Given the description of an element on the screen output the (x, y) to click on. 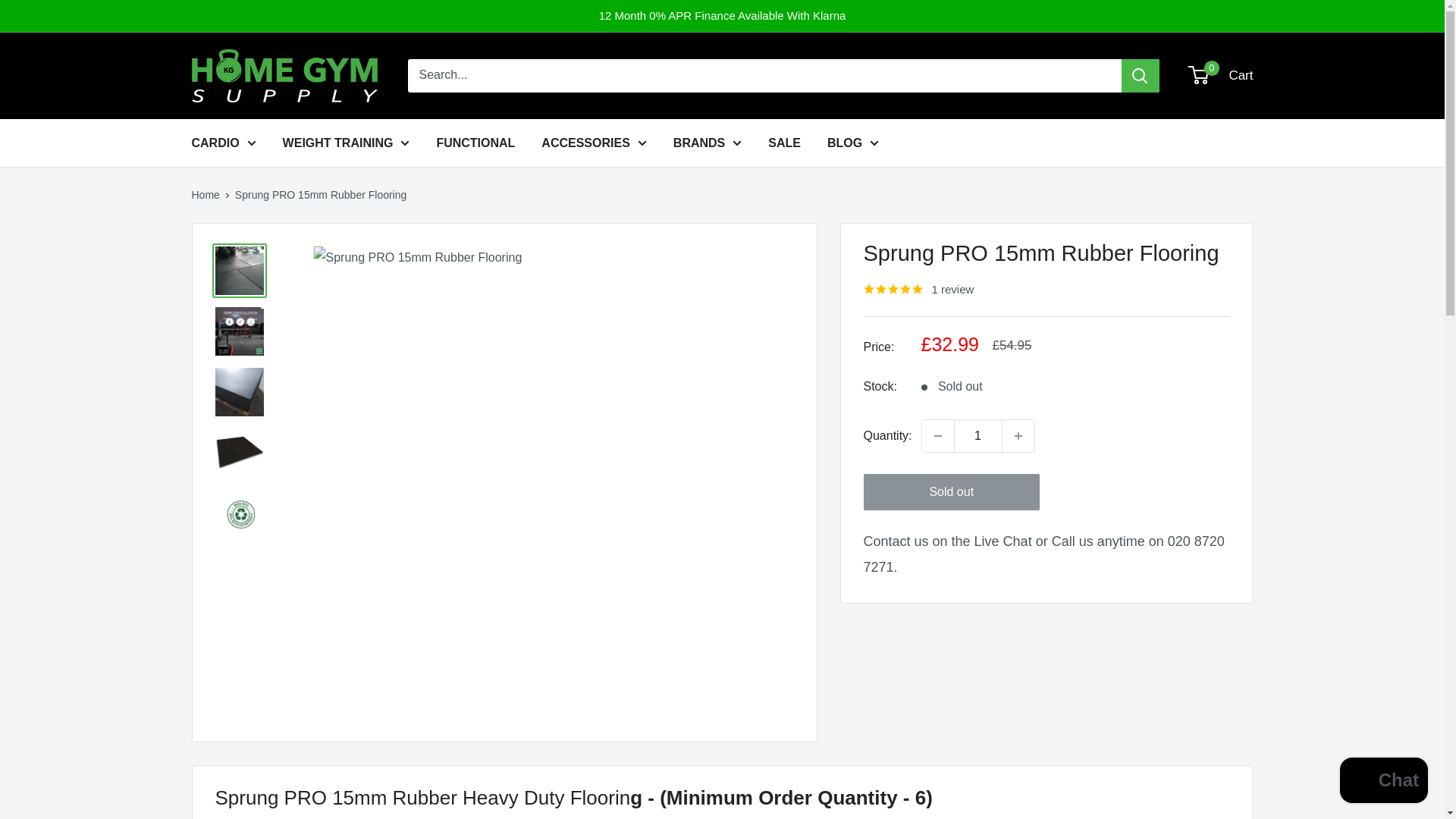
1 (978, 436)
Decrease quantity by 1 (937, 436)
Shopify online store chat (1383, 781)
Increase quantity by 1 (1018, 436)
